Given the description of an element on the screen output the (x, y) to click on. 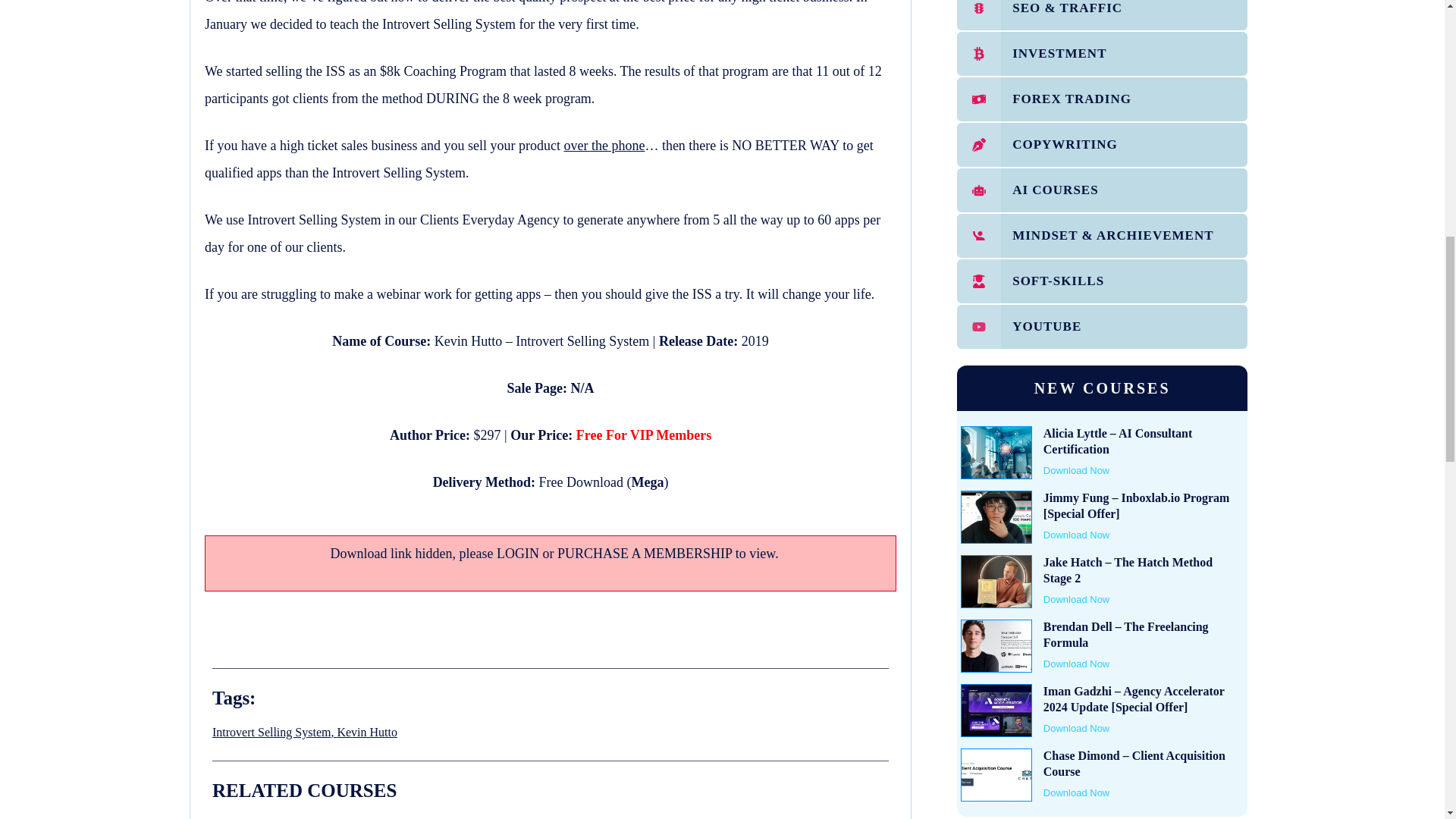
PURCHASE A MEMBERSHIP (644, 553)
Kevin Hutto (366, 731)
LOGIN (517, 553)
Kevin Hutto (366, 731)
Introvert Selling System (271, 731)
Introvert Selling System (271, 731)
